Given the description of an element on the screen output the (x, y) to click on. 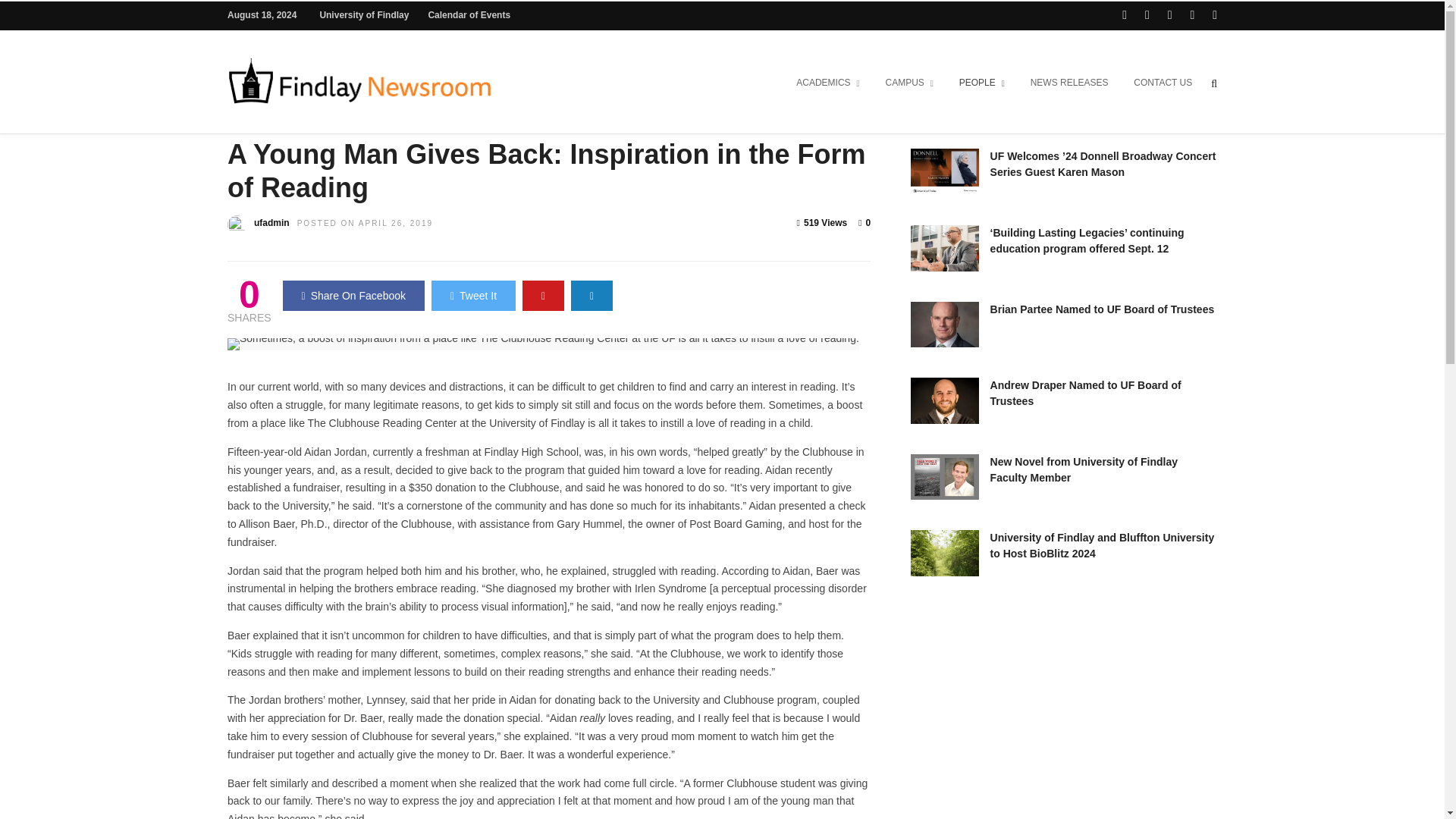
Share On Twitter (472, 295)
University of Findlay (363, 14)
Calendar of Events (469, 14)
Share by Email (591, 295)
Share On Facebook (353, 295)
Share On Pinterest (543, 295)
